Given the description of an element on the screen output the (x, y) to click on. 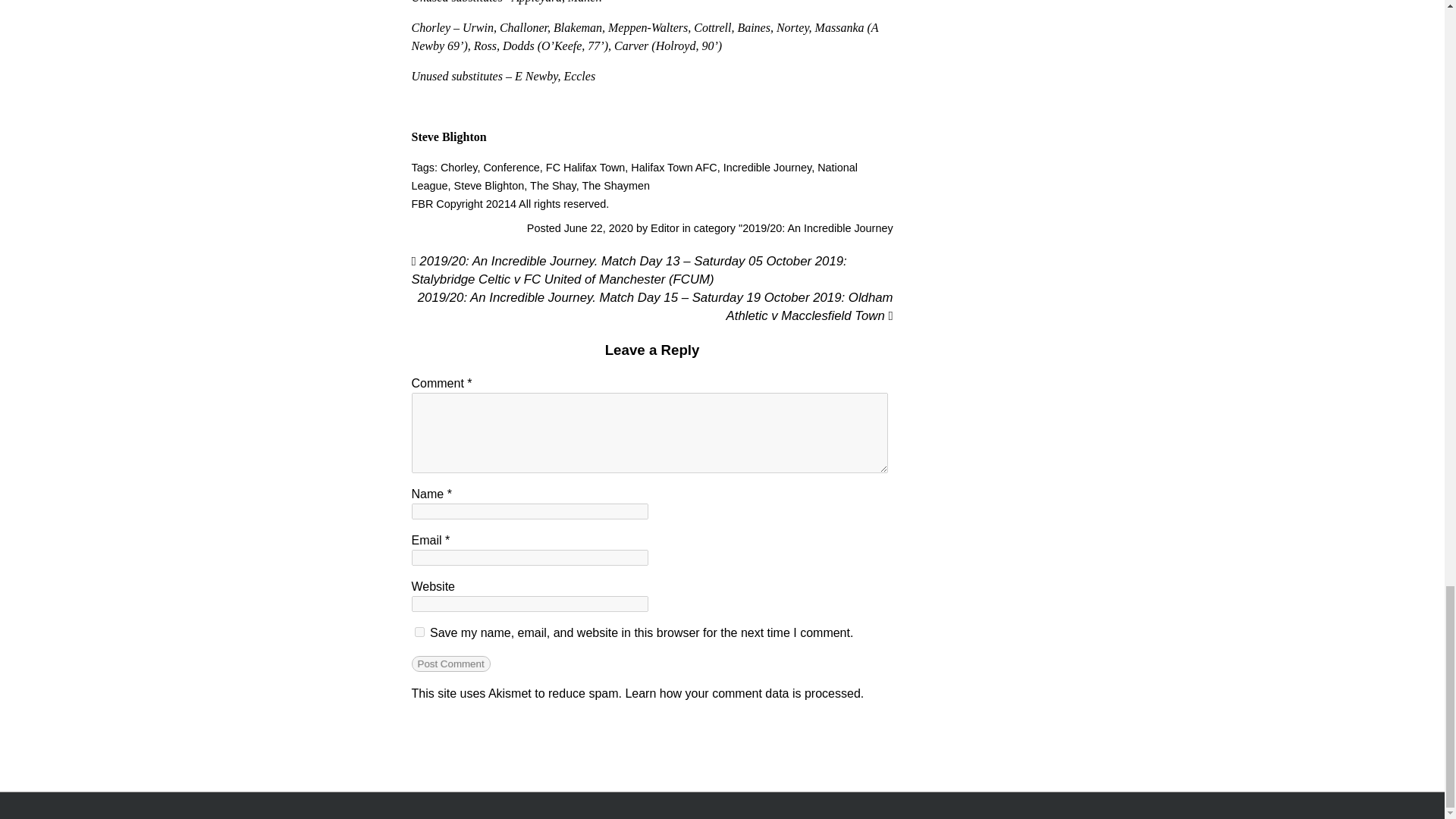
Conference (510, 167)
FC Halifax Town (586, 167)
Chorley (459, 167)
yes (418, 632)
Post Comment (449, 663)
Post Comment (449, 663)
National League (633, 176)
The Shay (552, 185)
Learn how your comment data is processed (742, 693)
The Shaymen (614, 185)
